Given the description of an element on the screen output the (x, y) to click on. 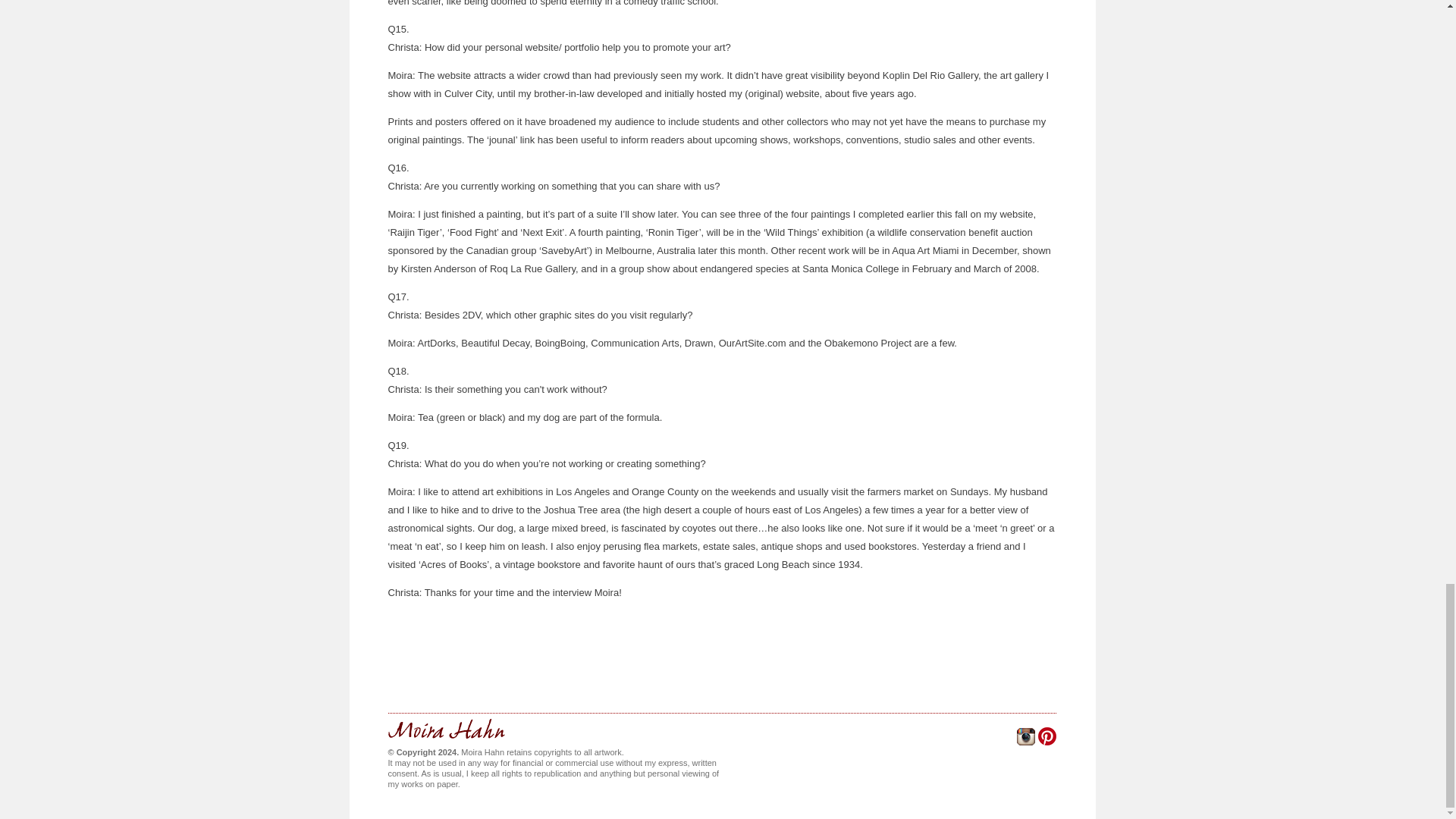
Instagram (1023, 740)
